Given the description of an element on the screen output the (x, y) to click on. 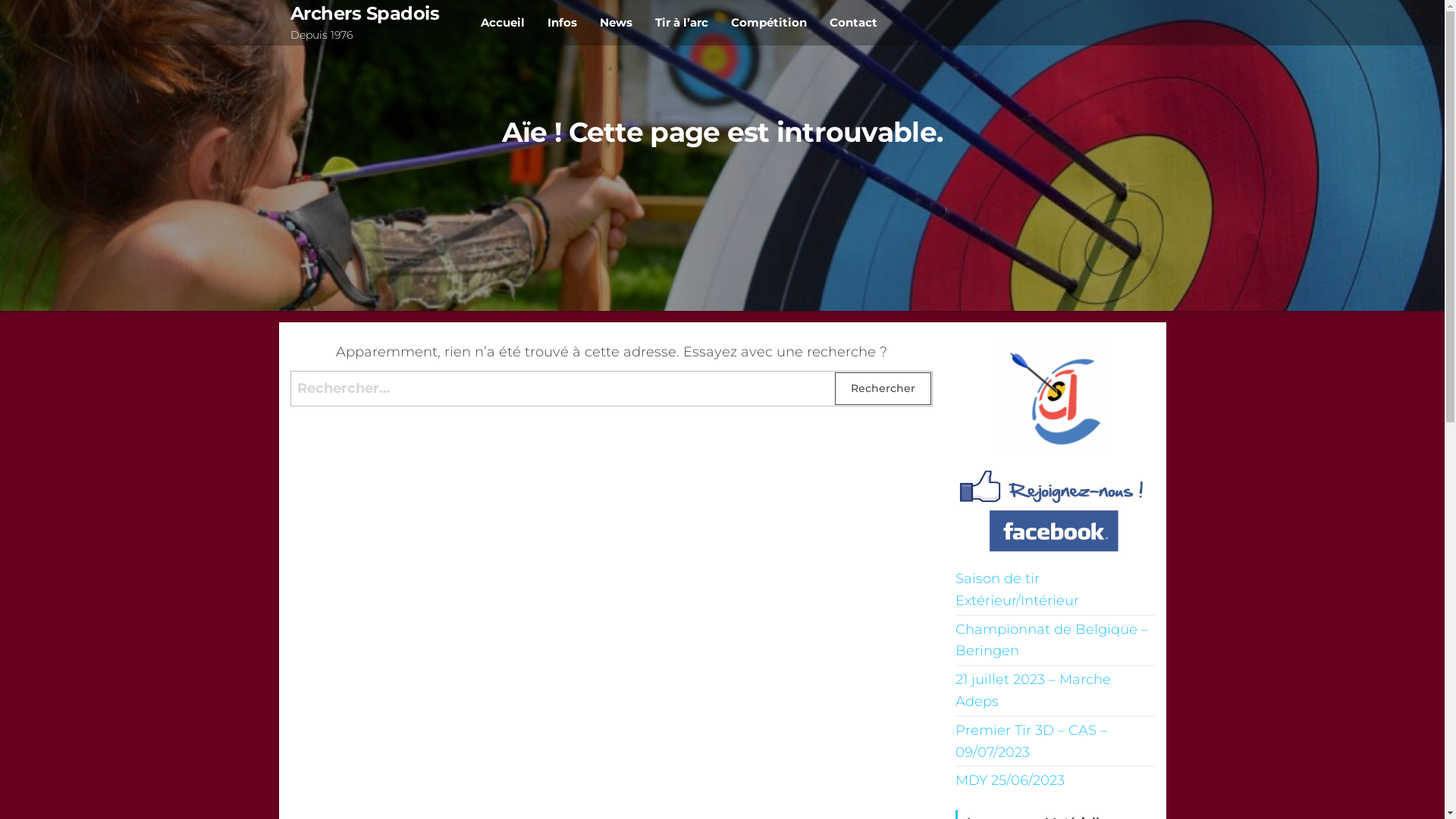
MDY 25/06/2023 Element type: text (1009, 779)
Accueil Element type: text (502, 22)
Contact Element type: text (853, 22)
Archers Spadois Element type: text (364, 13)
News Element type: text (615, 22)
Infos Element type: text (562, 22)
Rechercher Element type: text (882, 388)
